Given the description of an element on the screen output the (x, y) to click on. 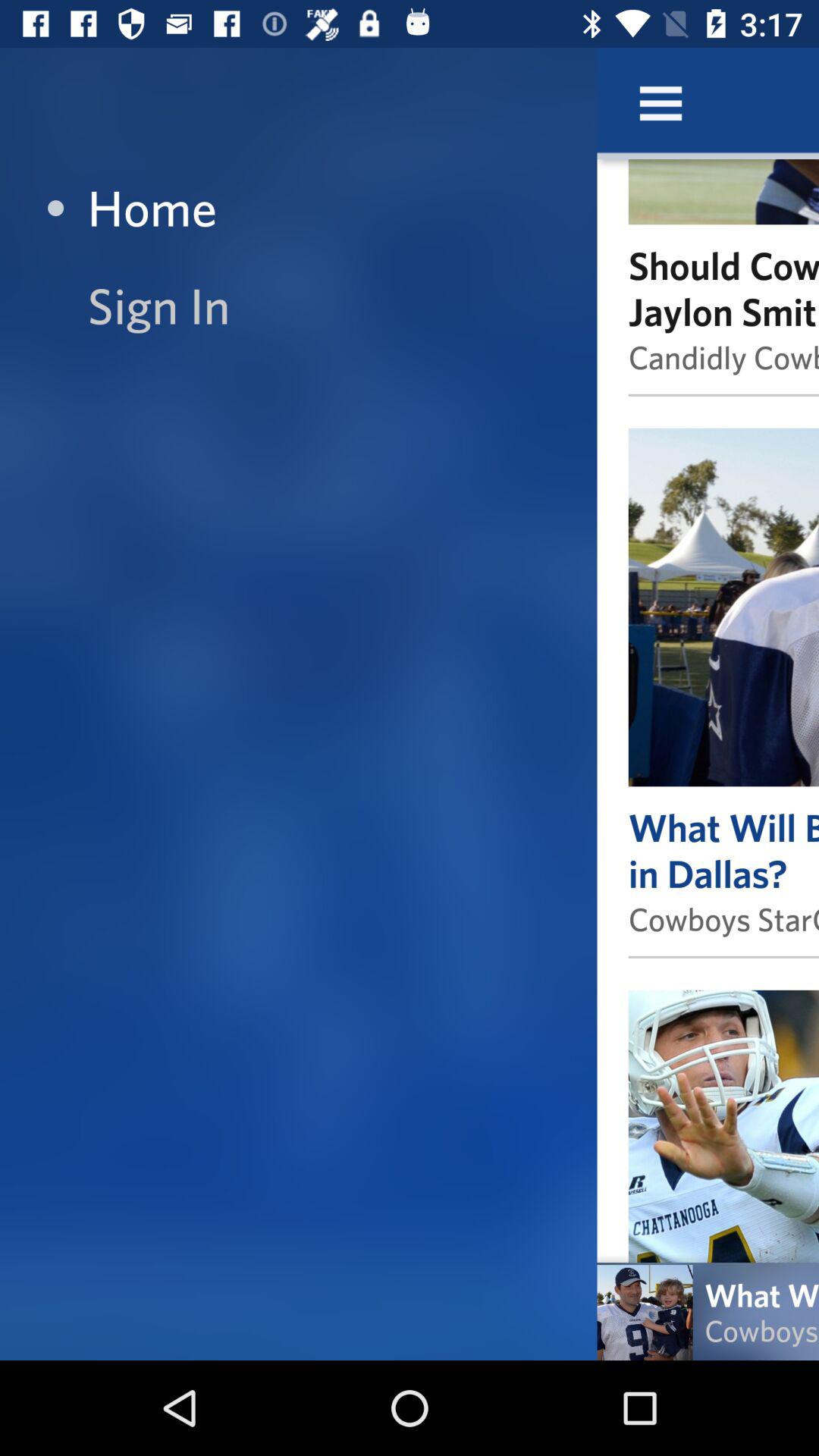
open the options (660, 103)
